Given the description of an element on the screen output the (x, y) to click on. 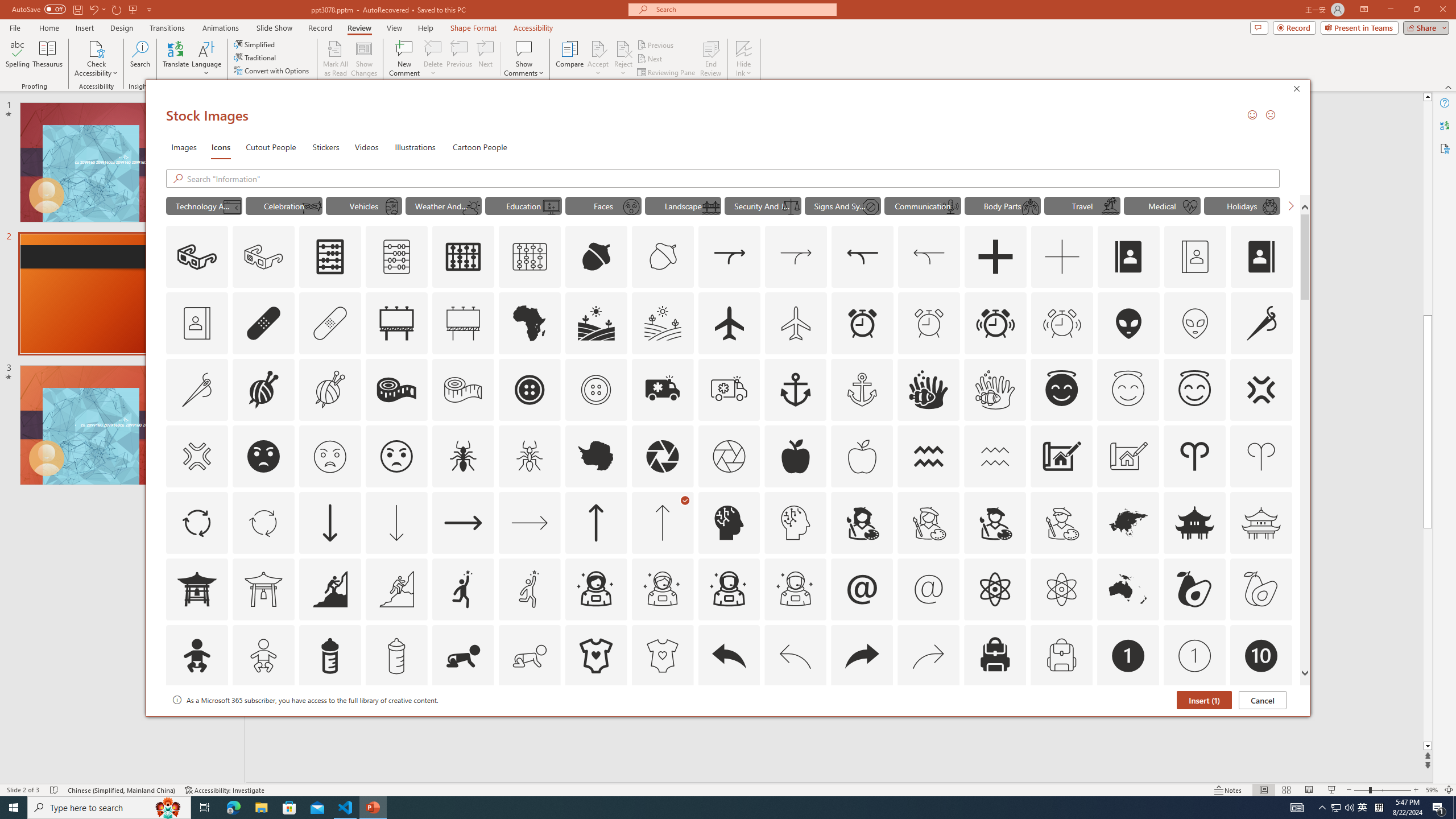
AutomationID: Icons_Aquarius (928, 455)
AutomationID: Icons_Asia (1128, 522)
AutomationID: Icons_AddressBook_RTL_M (197, 323)
